Given the description of an element on the screen output the (x, y) to click on. 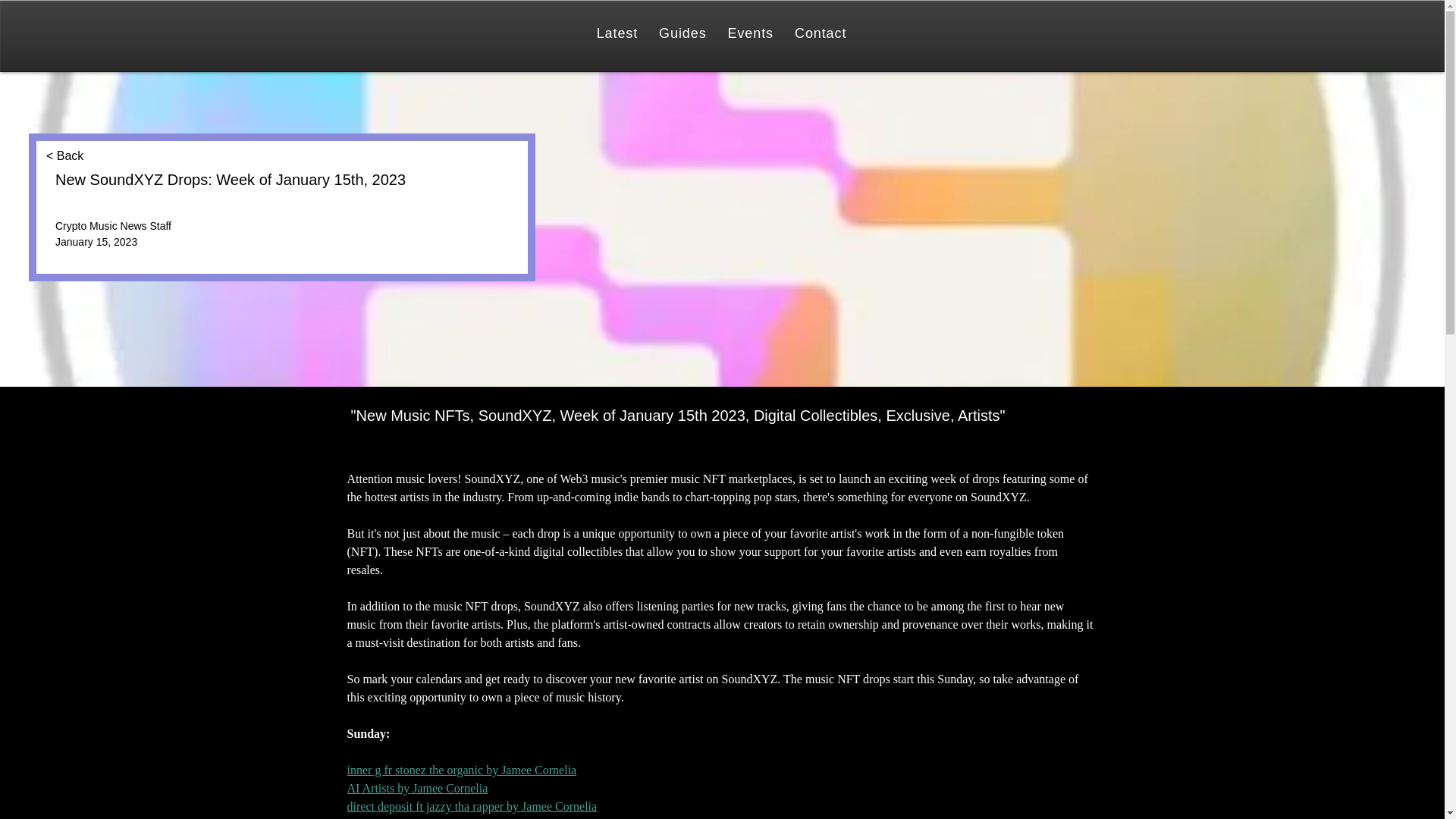
Events (750, 33)
AI Artists by Jamee Cornelia (417, 788)
Latest (617, 33)
Contact (820, 33)
Twitter Follow (84, 256)
inner g fr stonez the organic by Jamee Cornelia (461, 769)
direct deposit ft jazzy tha rapper by Jamee Cornelia (471, 806)
Guides (681, 33)
